Given the description of an element on the screen output the (x, y) to click on. 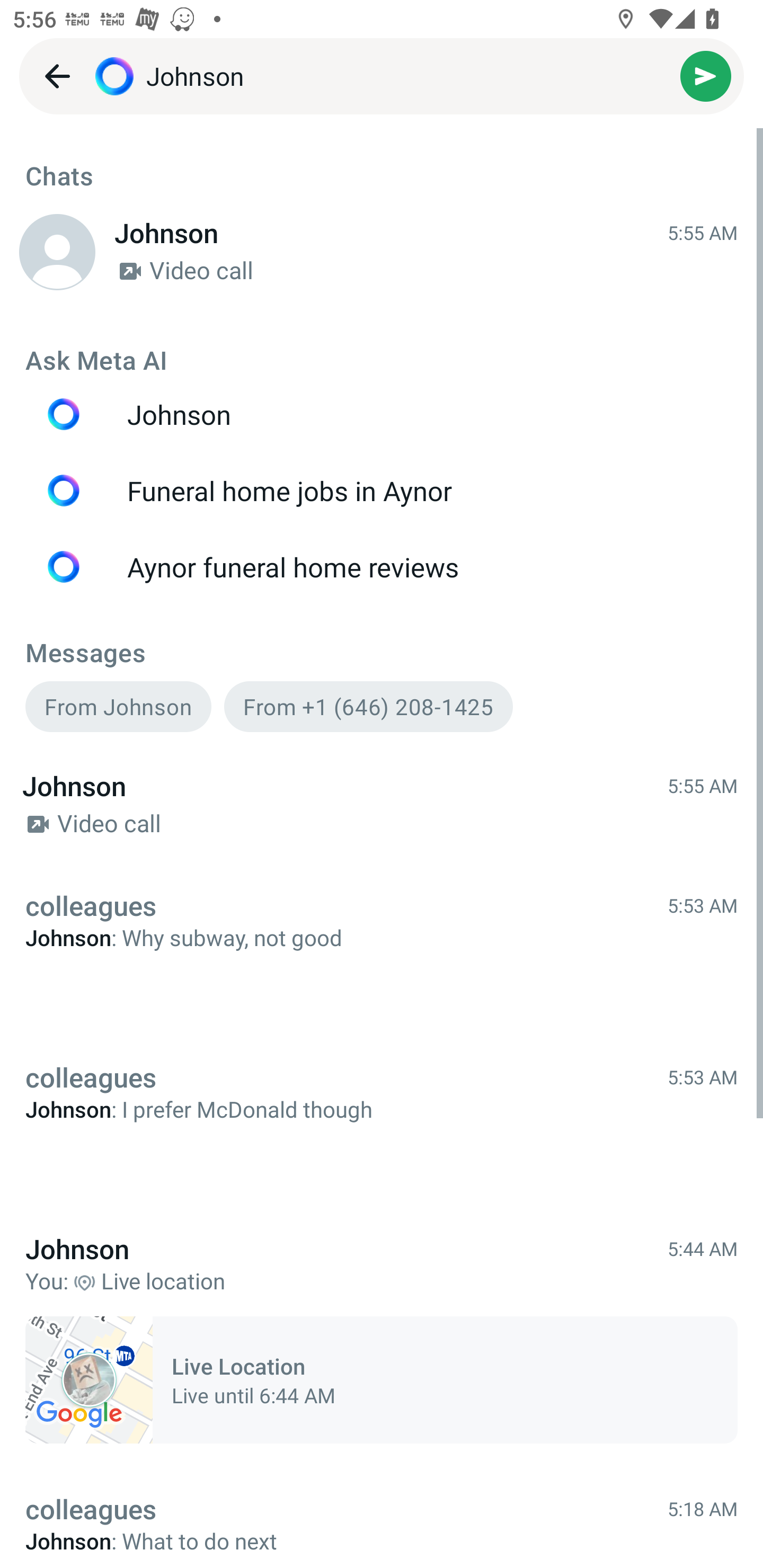
Back (57, 75)
​Johnson (413, 75)
Send (705, 75)
Johnson Johnson 5:55 AM 5:55 AM Video call (381, 251)
Johnson (57, 251)
Johnson (381, 414)
Funeral home jobs in Aynor (381, 490)
Aynor funeral home reviews (381, 566)
From Johnson (118, 705)
From +1 (646) 208-1425 (368, 705)
Johnson 5:55 AM 5:55 AM Video call (381, 804)
Live location (88, 1380)
